Given the description of an element on the screen output the (x, y) to click on. 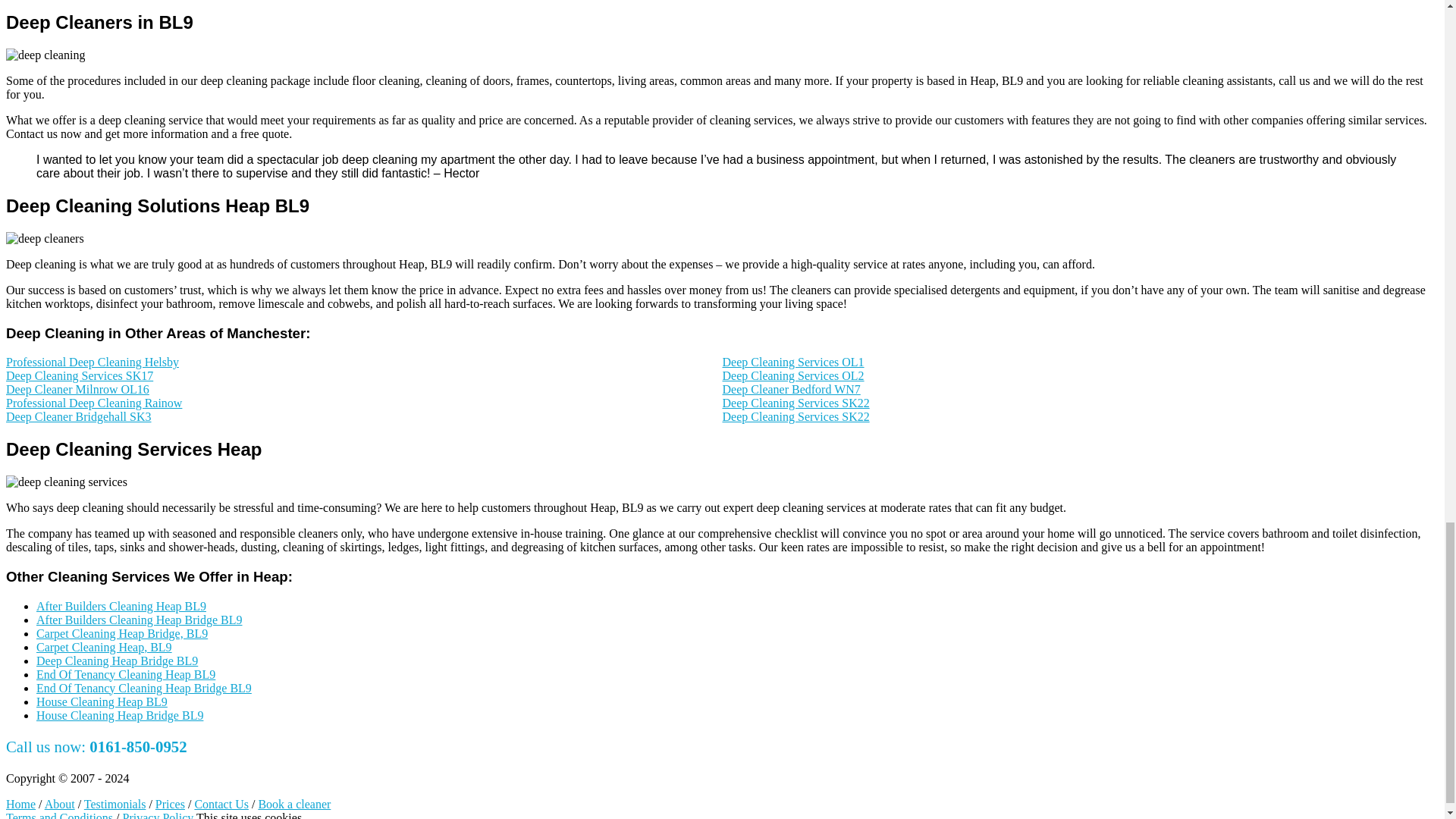
Deep Cleaner Milnrow OL16  (77, 389)
Deep Cleaning Services OL1 (792, 361)
Deep Cleaning Services OL1  (792, 361)
Deep Cleaning Services SK17 (78, 375)
Deep Cleaner Milnrow OL16 (77, 389)
Professional Deep Cleaning Helsby (92, 361)
After Builders Cleaning Heap Bridge BL9 (139, 618)
Deep Cleaning Services SK22 (795, 402)
After Builders Cleaning Heap BL9 (121, 604)
Professional Deep Cleaning Rainow (93, 402)
Deep Cleaner Bedford WN7 (791, 389)
Deep Cleaning Services SK17  (78, 375)
Carpet Cleaning Heap, BL9 (103, 645)
Deep Cleaning Heap Bridge BL9 (117, 659)
Deep Cleaning Services SK22 (795, 416)
